Given the description of an element on the screen output the (x, y) to click on. 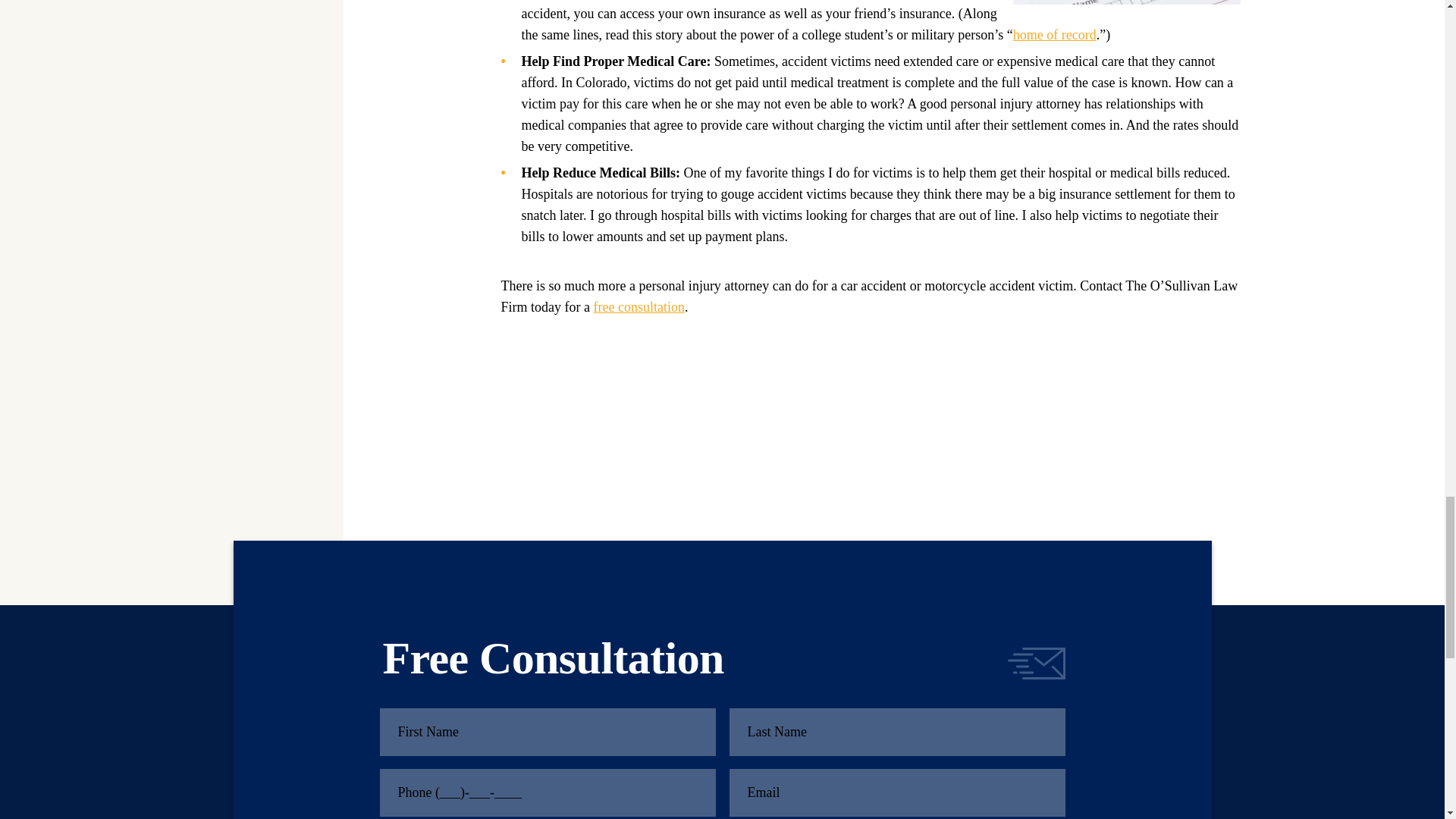
free consultation (638, 306)
home of record (1054, 34)
